Given the description of an element on the screen output the (x, y) to click on. 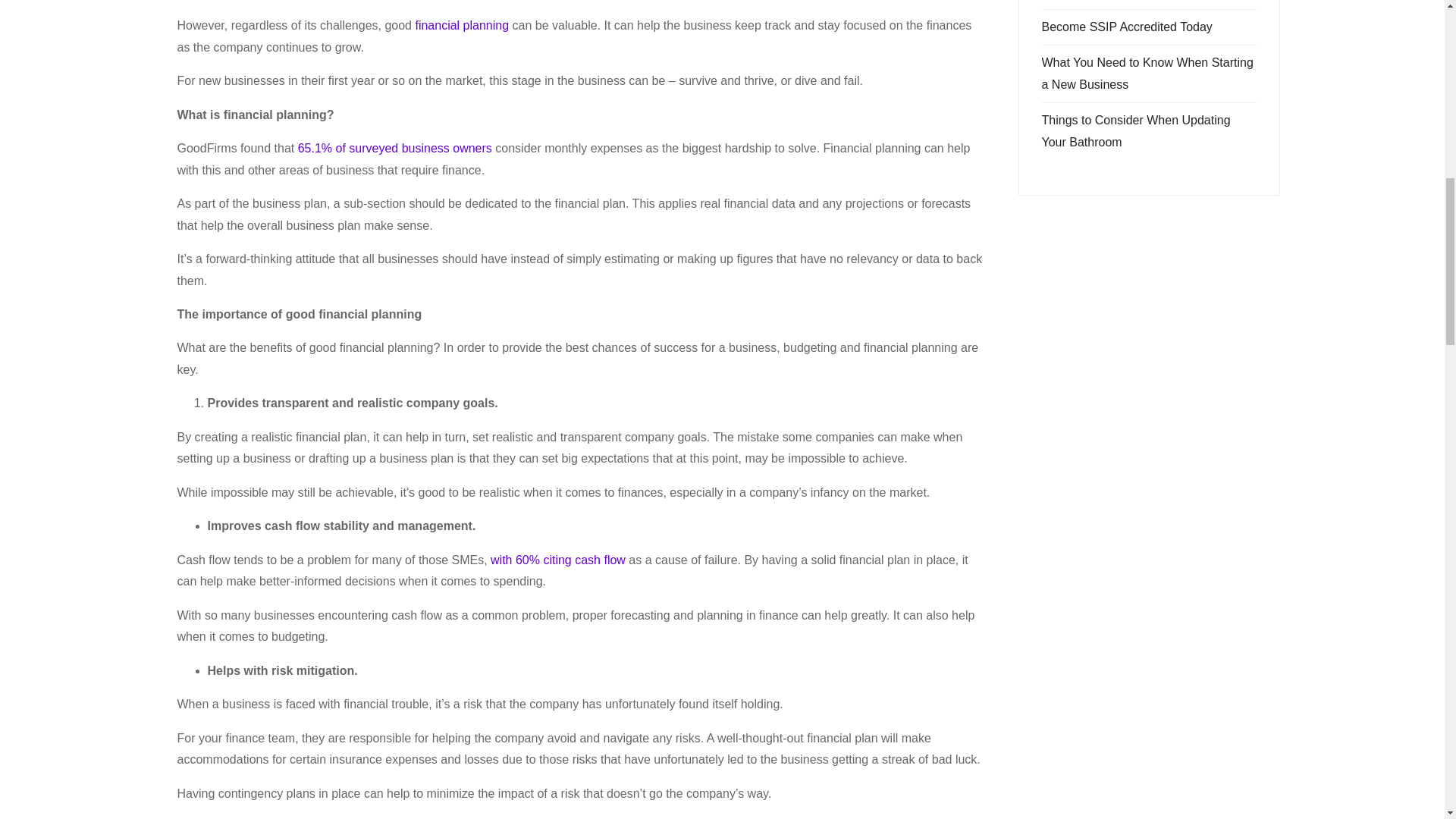
financial planning (461, 24)
